Given the description of an element on the screen output the (x, y) to click on. 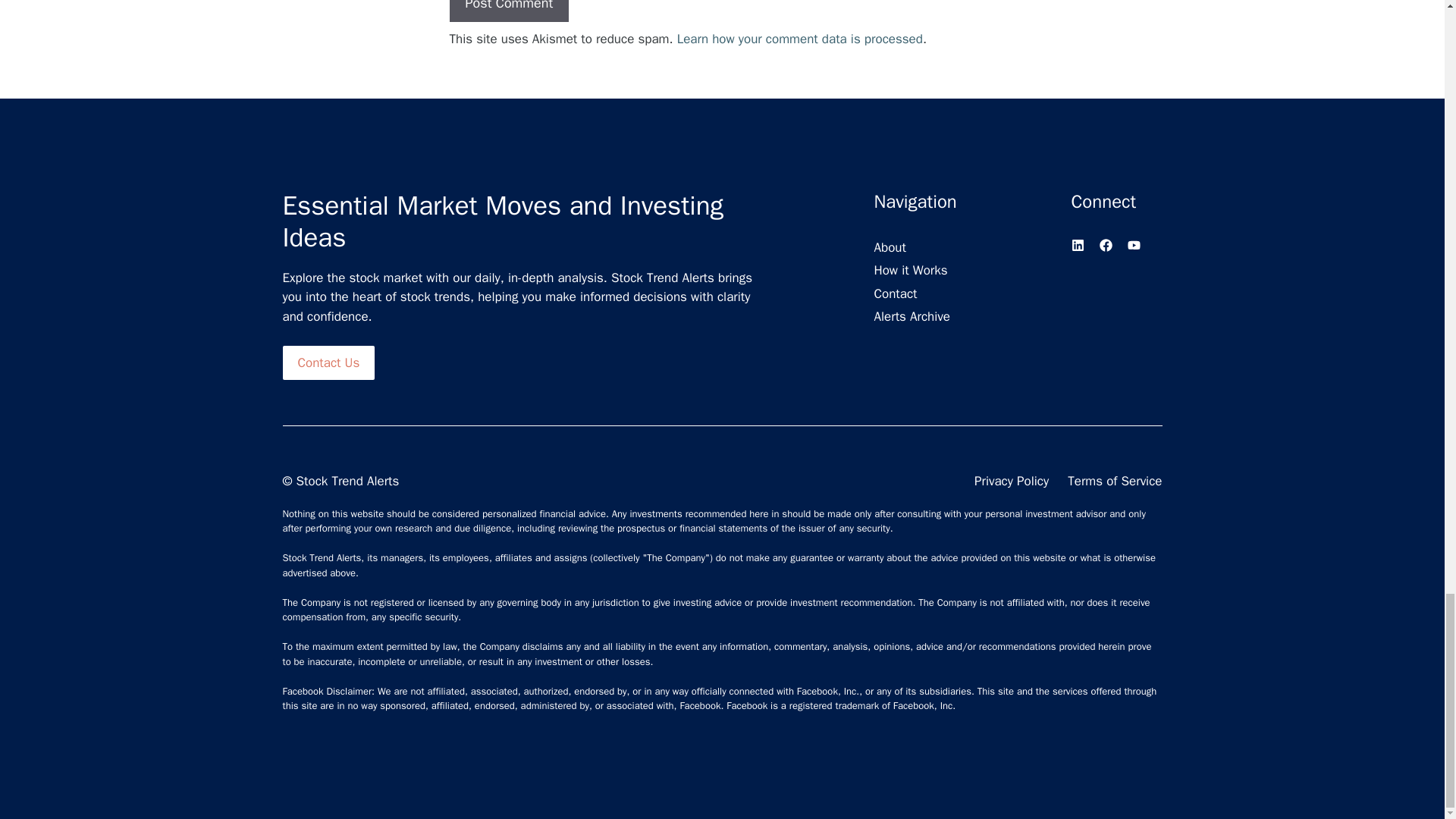
Contact (895, 293)
How it Works (910, 270)
Post Comment (508, 11)
Post Comment (508, 11)
Contact Us (328, 362)
About (889, 247)
Learn how your comment data is processed (800, 38)
Alerts Archive (911, 316)
